Given the description of an element on the screen output the (x, y) to click on. 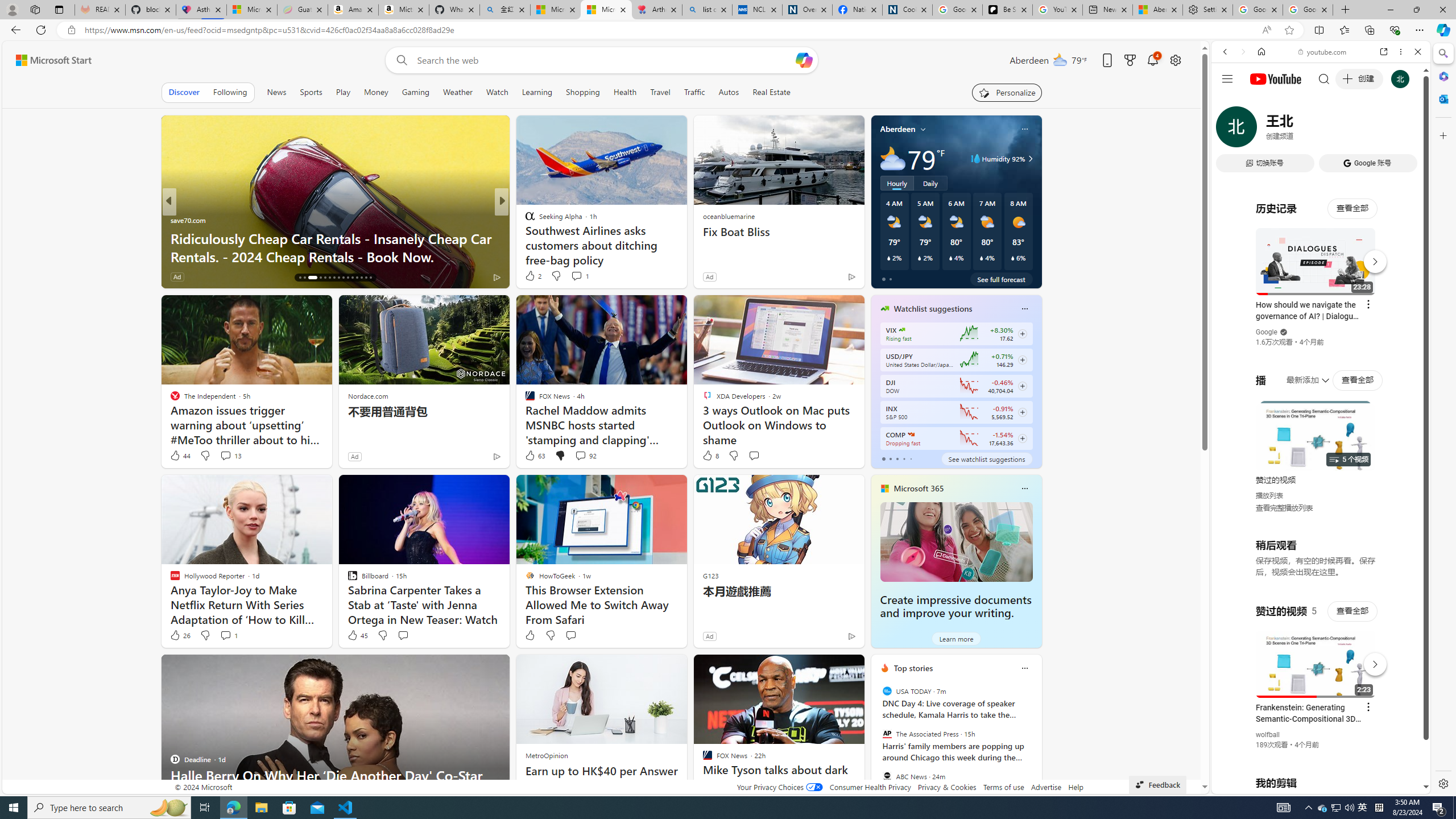
View comments 13 Comment (225, 455)
YouTube - YouTube (1315, 560)
oceanbluemarine (727, 215)
HowToGeek (524, 219)
Travel (660, 92)
View comments 9 Comment (580, 276)
View comments 25 Comment (582, 276)
16 Like (530, 276)
Humidity 92% (1028, 158)
Sports (310, 92)
View comments 3 Comment (580, 276)
